Given the description of an element on the screen output the (x, y) to click on. 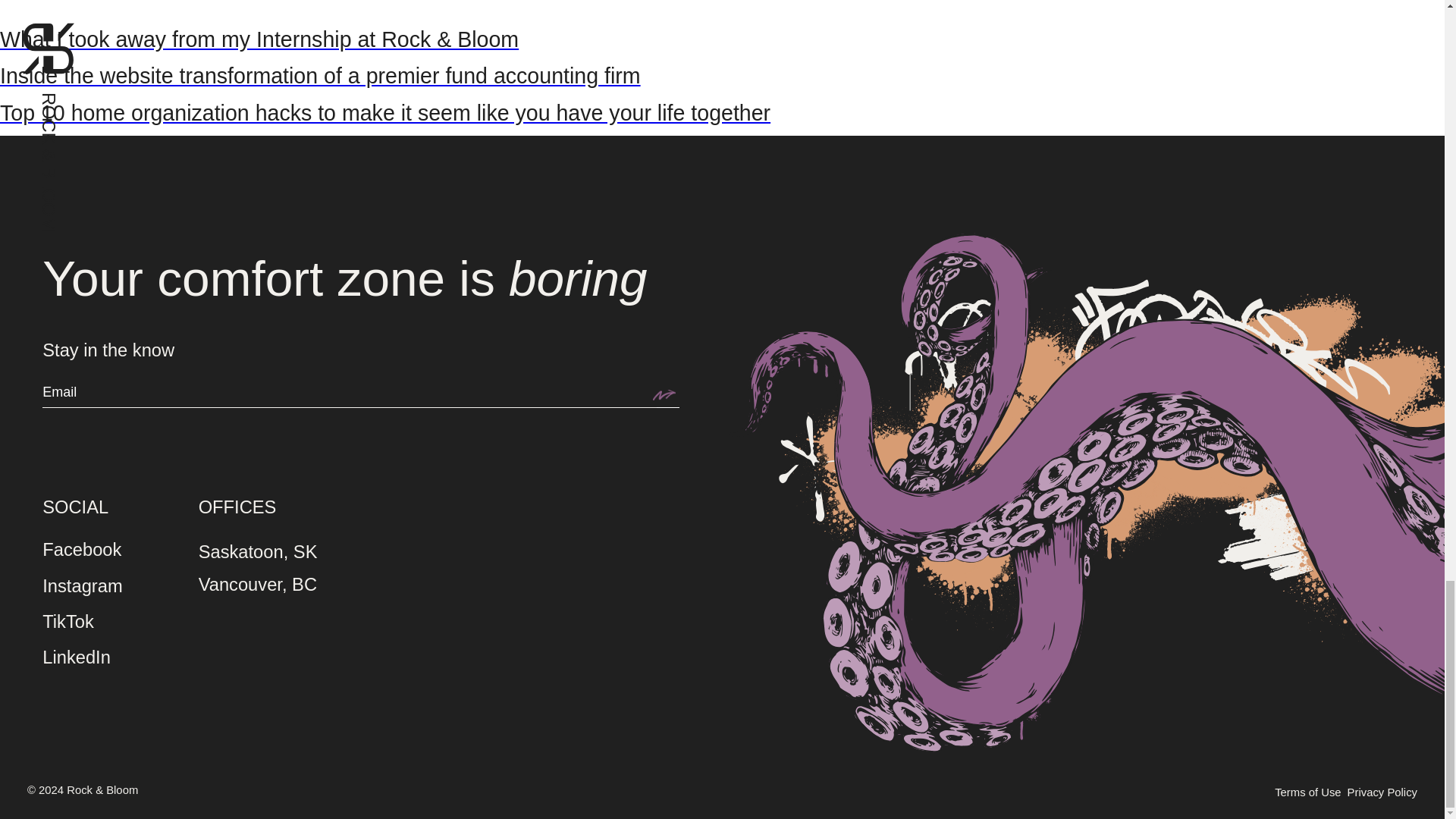
LinkedIn (76, 658)
TikTok (68, 622)
Terms of Use (1307, 792)
Instagram (82, 587)
Privacy Policy (1382, 792)
Facebook (81, 550)
